Given the description of an element on the screen output the (x, y) to click on. 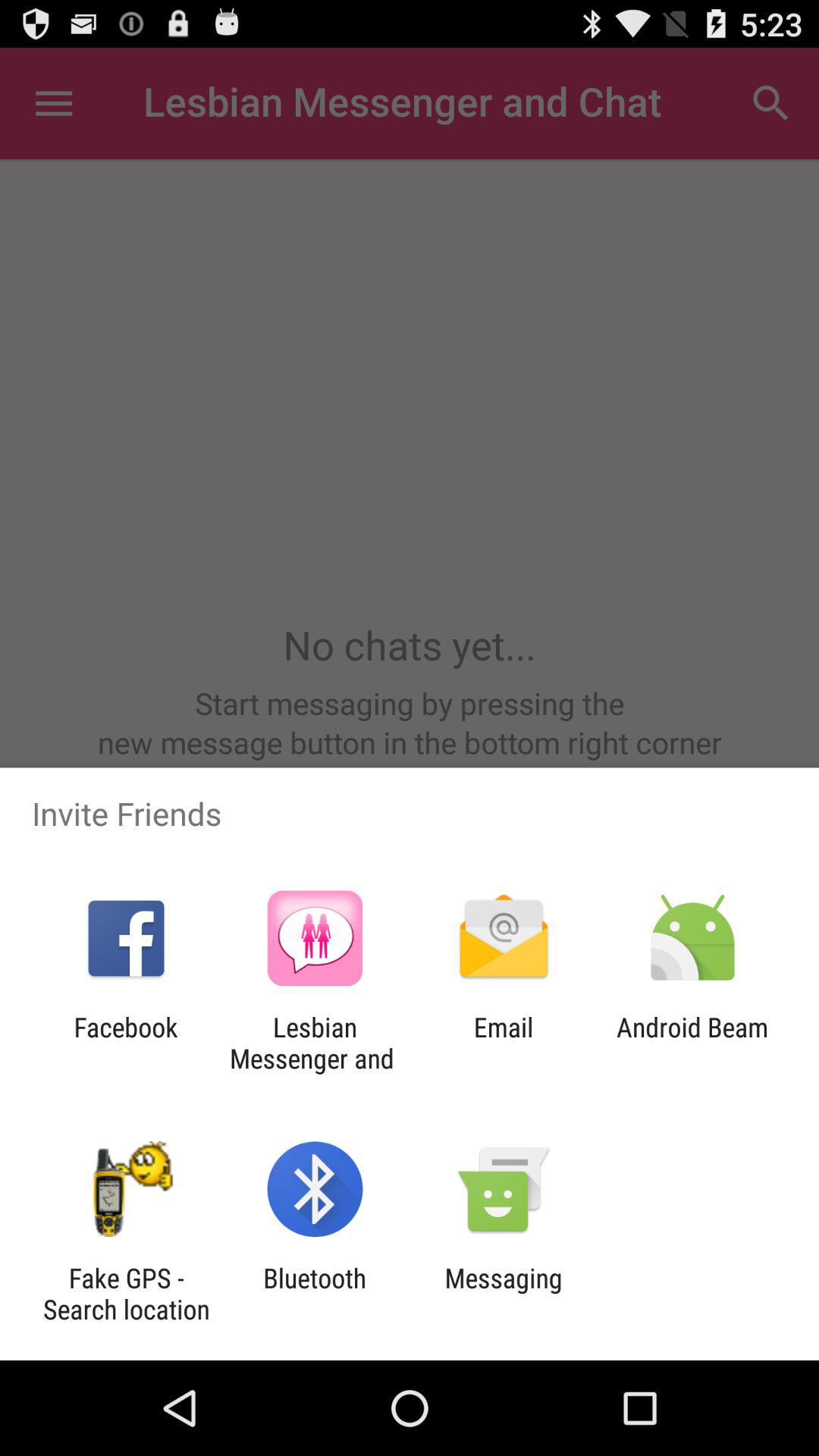
jump until fake gps search app (125, 1293)
